Given the description of an element on the screen output the (x, y) to click on. 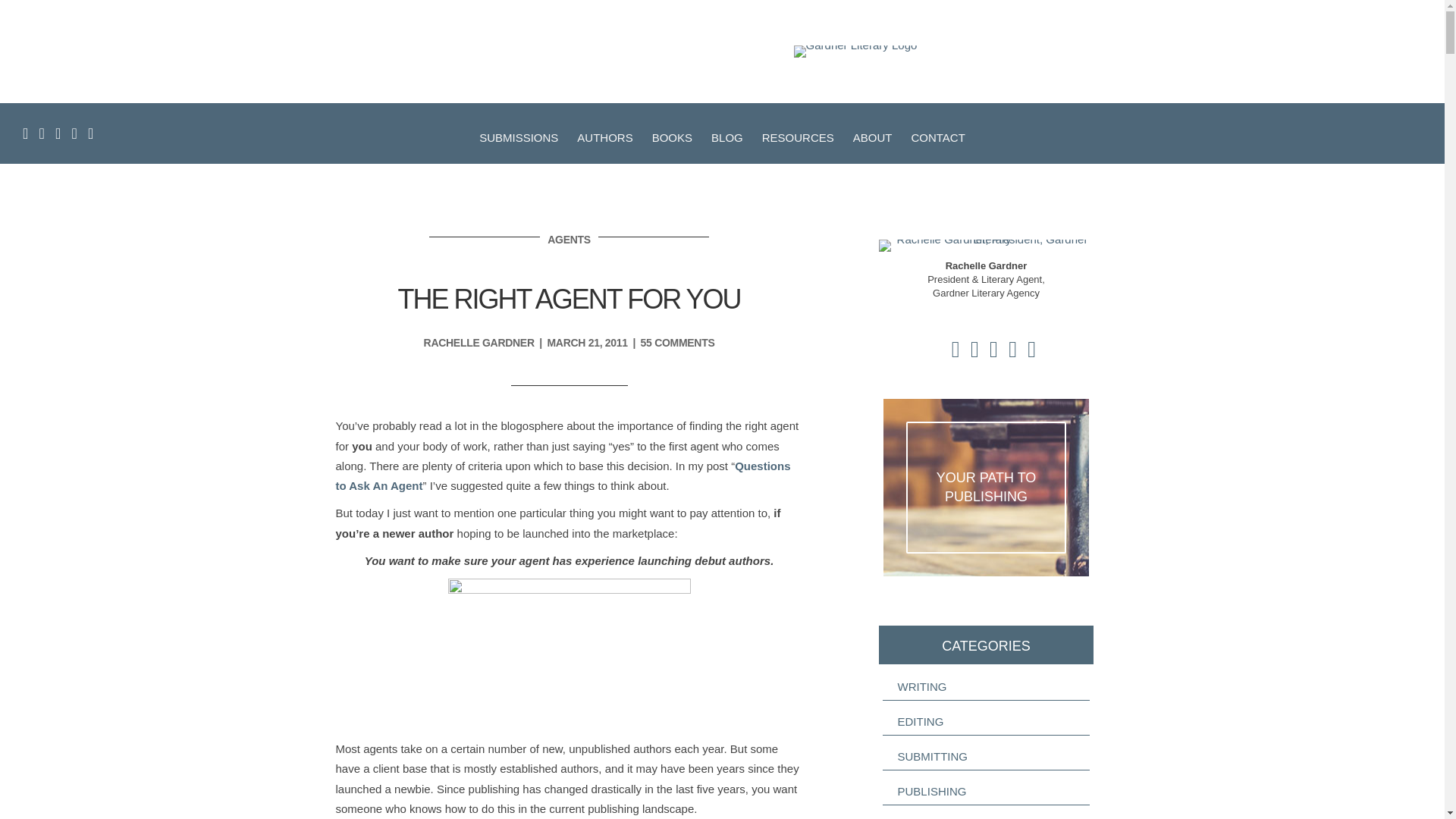
Rachelle Gardner, President, Gardner Literary (986, 245)
SUBMISSIONS (518, 137)
Your Path to Publishing (986, 487)
RESOURCES (797, 137)
RACHELLE GARDNER (478, 342)
AUTHORS (604, 137)
ABOUT (872, 137)
Gardner Literary Logo (855, 51)
BLOG (726, 137)
AGENTS (569, 239)
BOOKS (672, 137)
55 COMMENTS (677, 342)
CONTACT (937, 137)
Questions to Ask An Agent (562, 475)
